Given the description of an element on the screen output the (x, y) to click on. 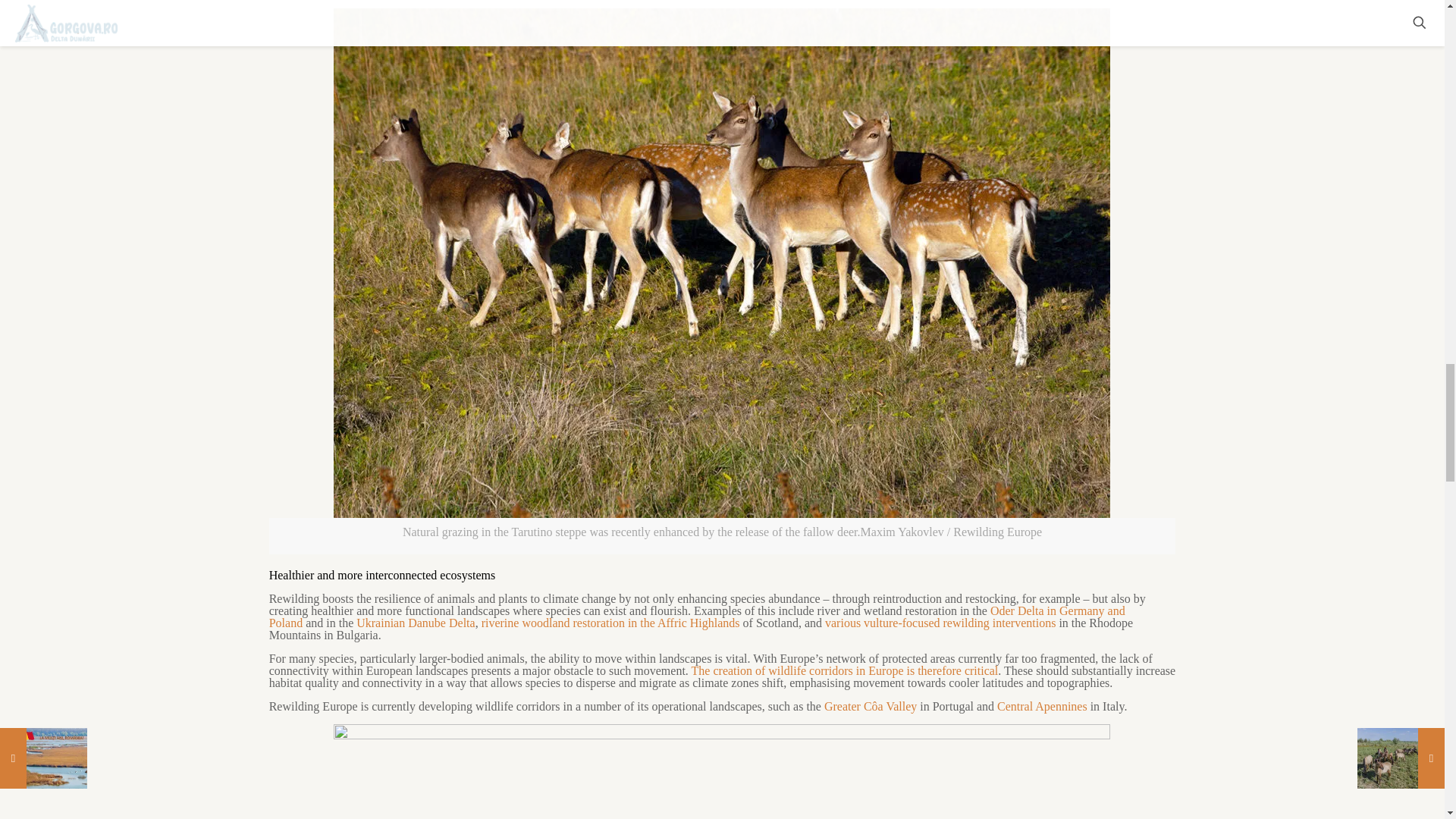
Oder Delta in Germany and Poland (697, 616)
